Given the description of an element on the screen output the (x, y) to click on. 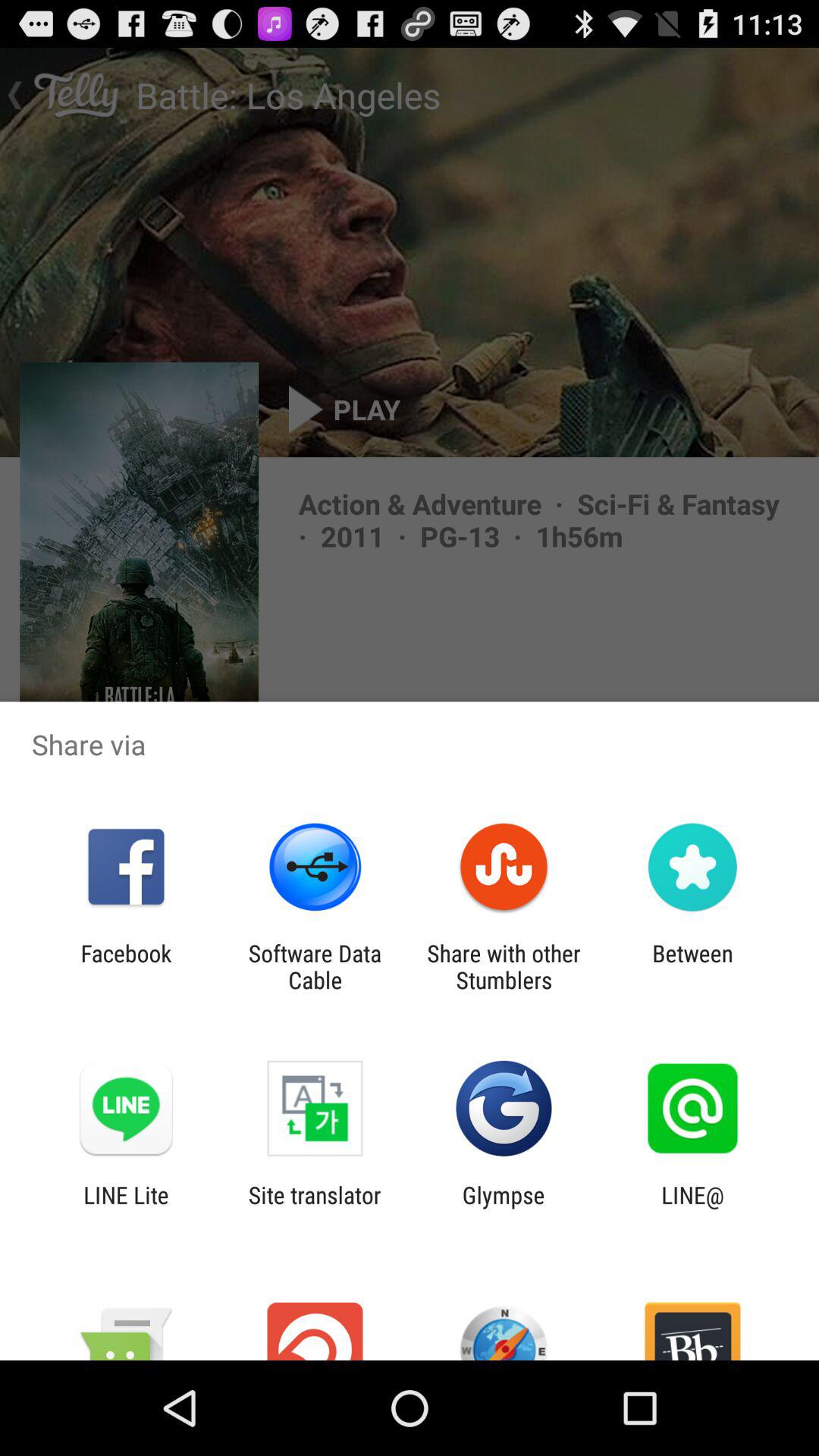
turn on item next to share with other (692, 966)
